Given the description of an element on the screen output the (x, y) to click on. 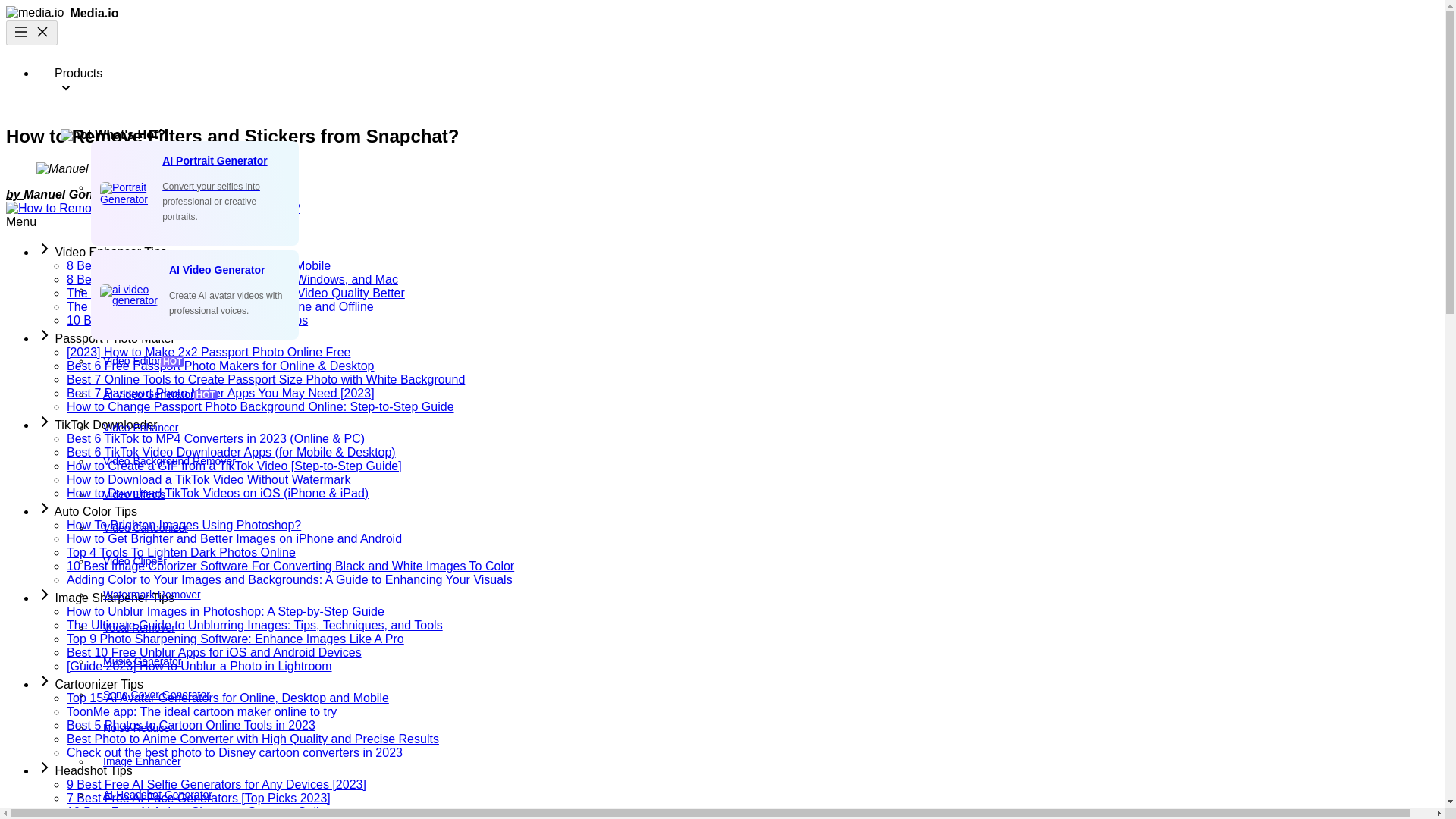
Music Generator (767, 661)
Video Background Remover (767, 460)
Image Enhancer (767, 761)
Noise Reducer (767, 727)
Video Enhancer (767, 427)
Video Effects (767, 494)
Song Cover Generator (767, 694)
Vocal Remover (767, 627)
Video EditorHOT (767, 360)
Media.io (62, 11)
AI Video GeneratorHOT (767, 394)
Video Cartoonizer (767, 527)
Video Clipper (767, 561)
